Given the description of an element on the screen output the (x, y) to click on. 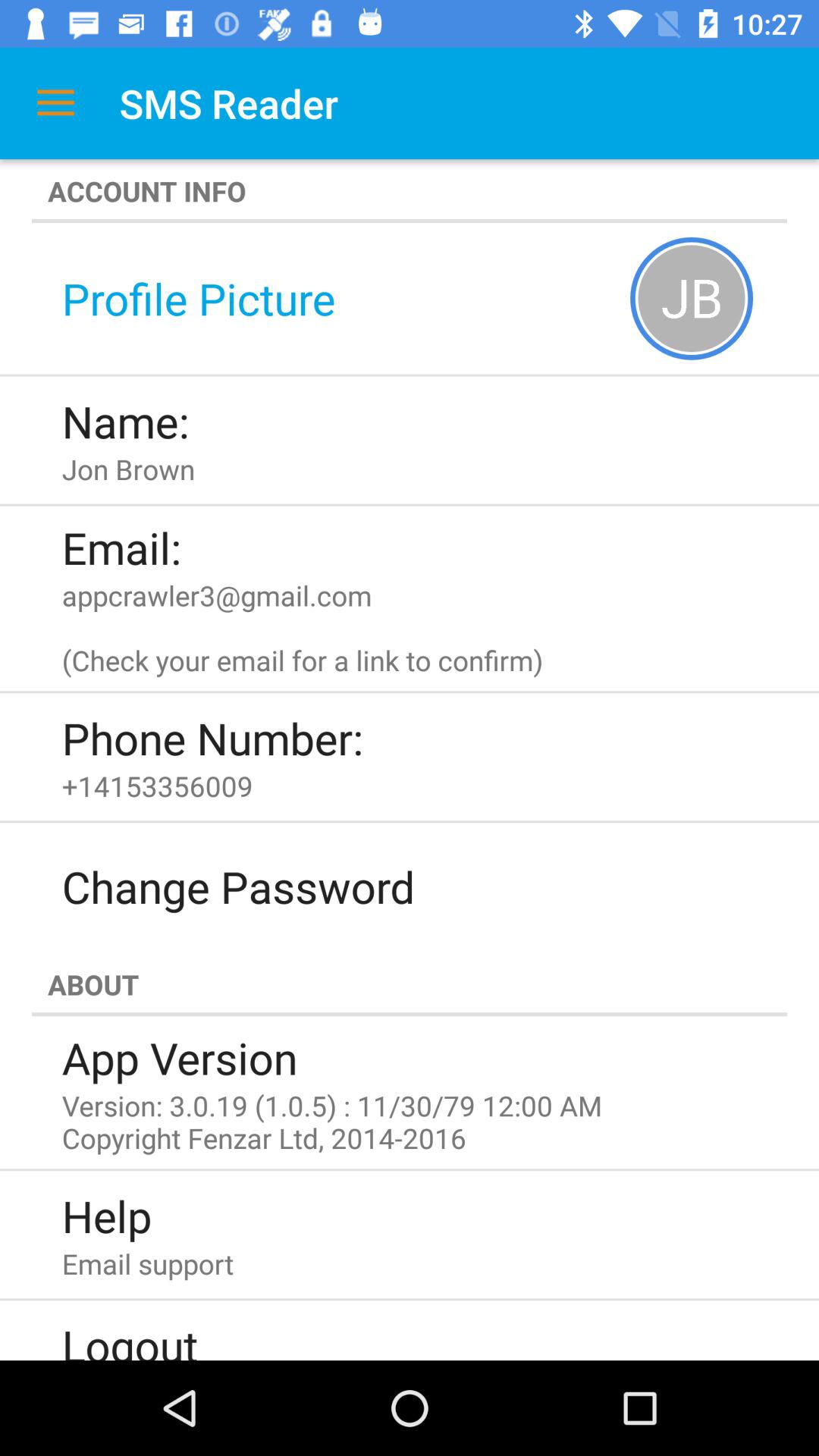
turn on about (409, 984)
